Given the description of an element on the screen output the (x, y) to click on. 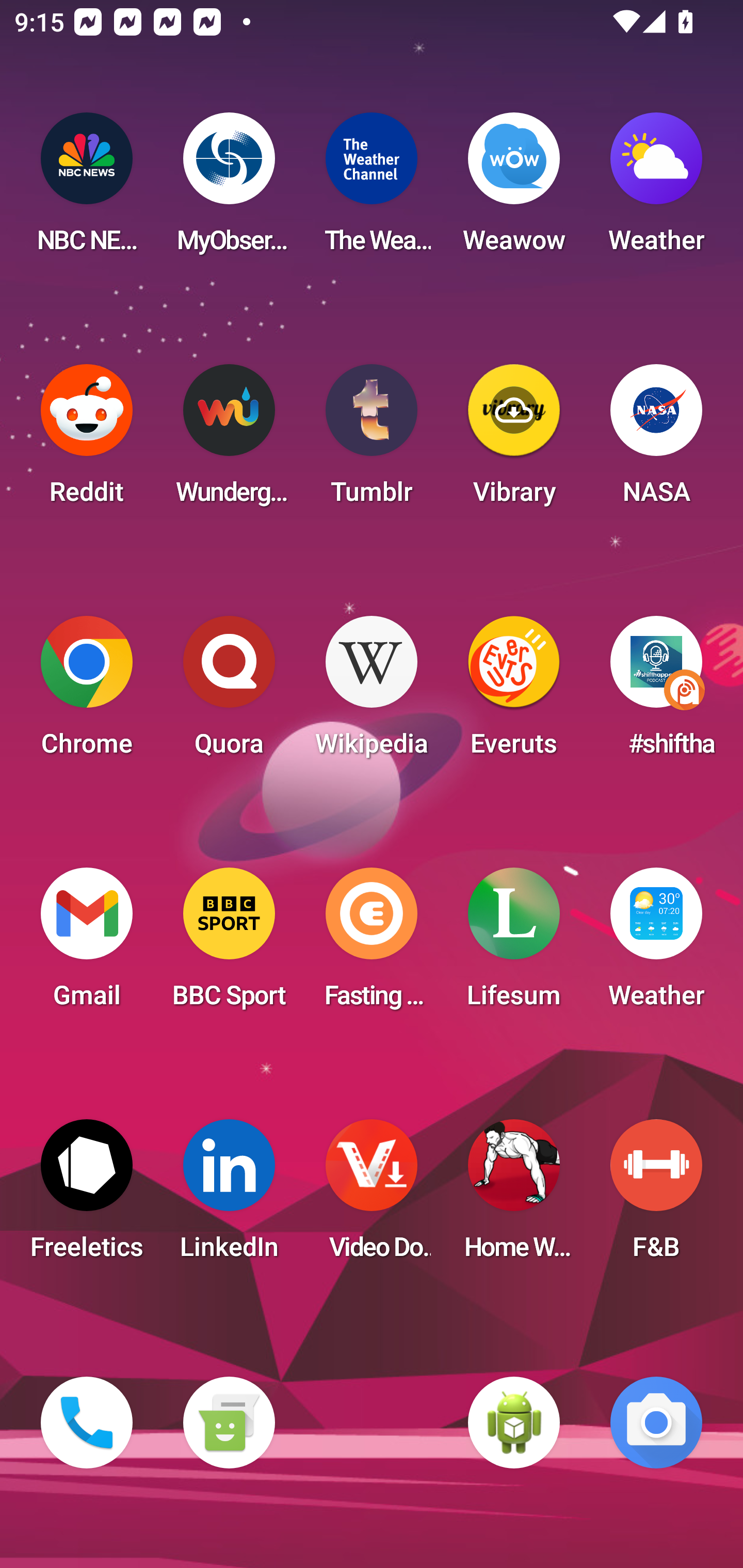
NBC NEWS (86, 188)
MyObservatory (228, 188)
The Weather Channel (371, 188)
Weawow (513, 188)
Weather (656, 188)
Reddit (86, 440)
Wunderground (228, 440)
Tumblr (371, 440)
Vibrary (513, 440)
NASA (656, 440)
Chrome (86, 692)
Quora (228, 692)
Wikipedia (371, 692)
Everuts (513, 692)
#shifthappens in the Digital Workplace Podcast (656, 692)
Gmail (86, 943)
BBC Sport (228, 943)
Fasting Coach (371, 943)
Lifesum (513, 943)
Weather (656, 943)
Freeletics (86, 1195)
LinkedIn (228, 1195)
Video Downloader & Ace Player (371, 1195)
Home Workout (513, 1195)
F&B (656, 1195)
Phone (86, 1422)
Messaging (228, 1422)
WebView Browser Tester (513, 1422)
Camera (656, 1422)
